Given the description of an element on the screen output the (x, y) to click on. 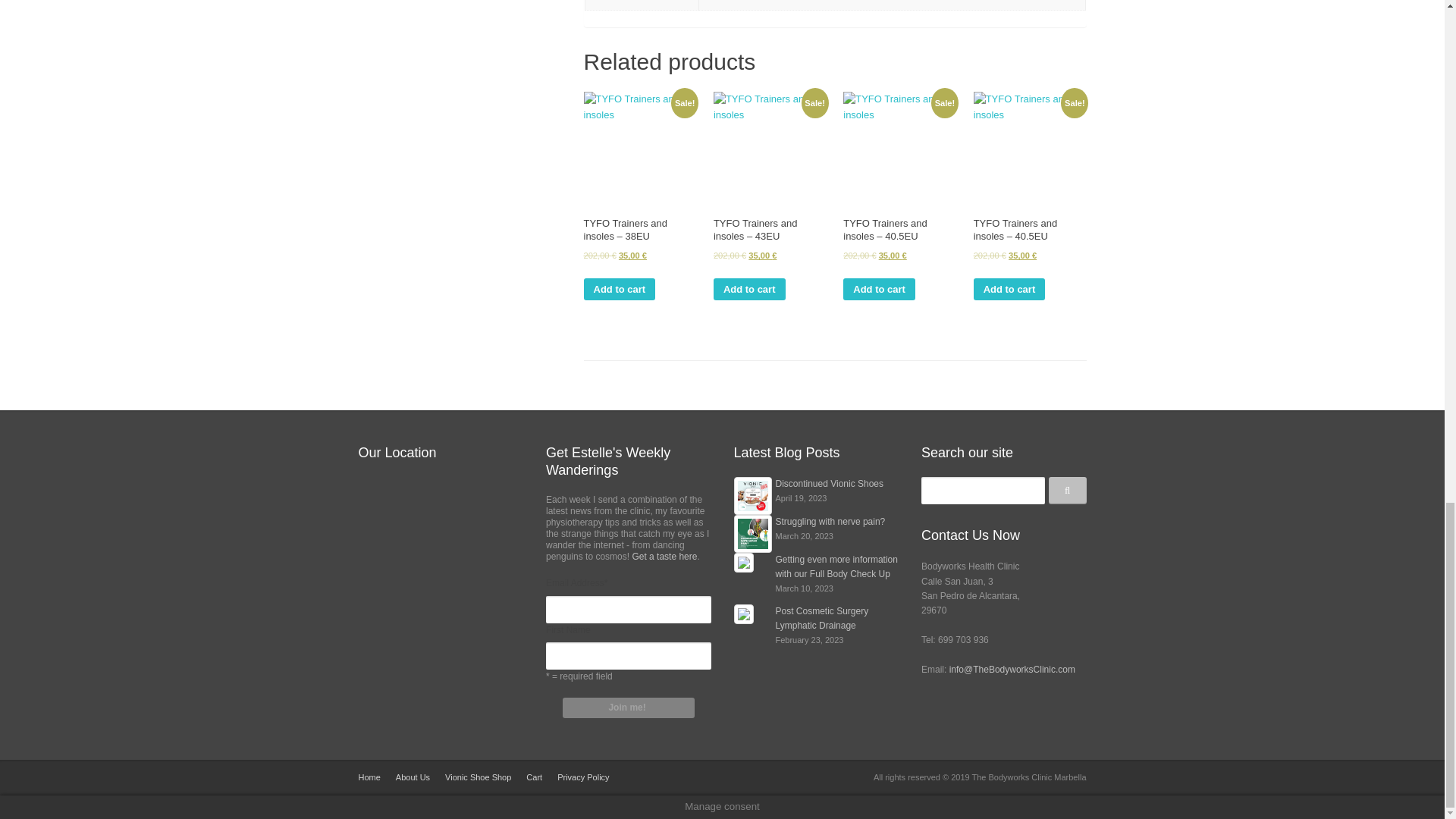
Join me!  (628, 707)
Discontinued Vionic Shoes (828, 483)
Add to cart (879, 289)
Add to cart (619, 289)
Add to cart (1009, 289)
Add to cart (749, 289)
Get a taste here (664, 556)
Join me!  (628, 707)
